Given the description of an element on the screen output the (x, y) to click on. 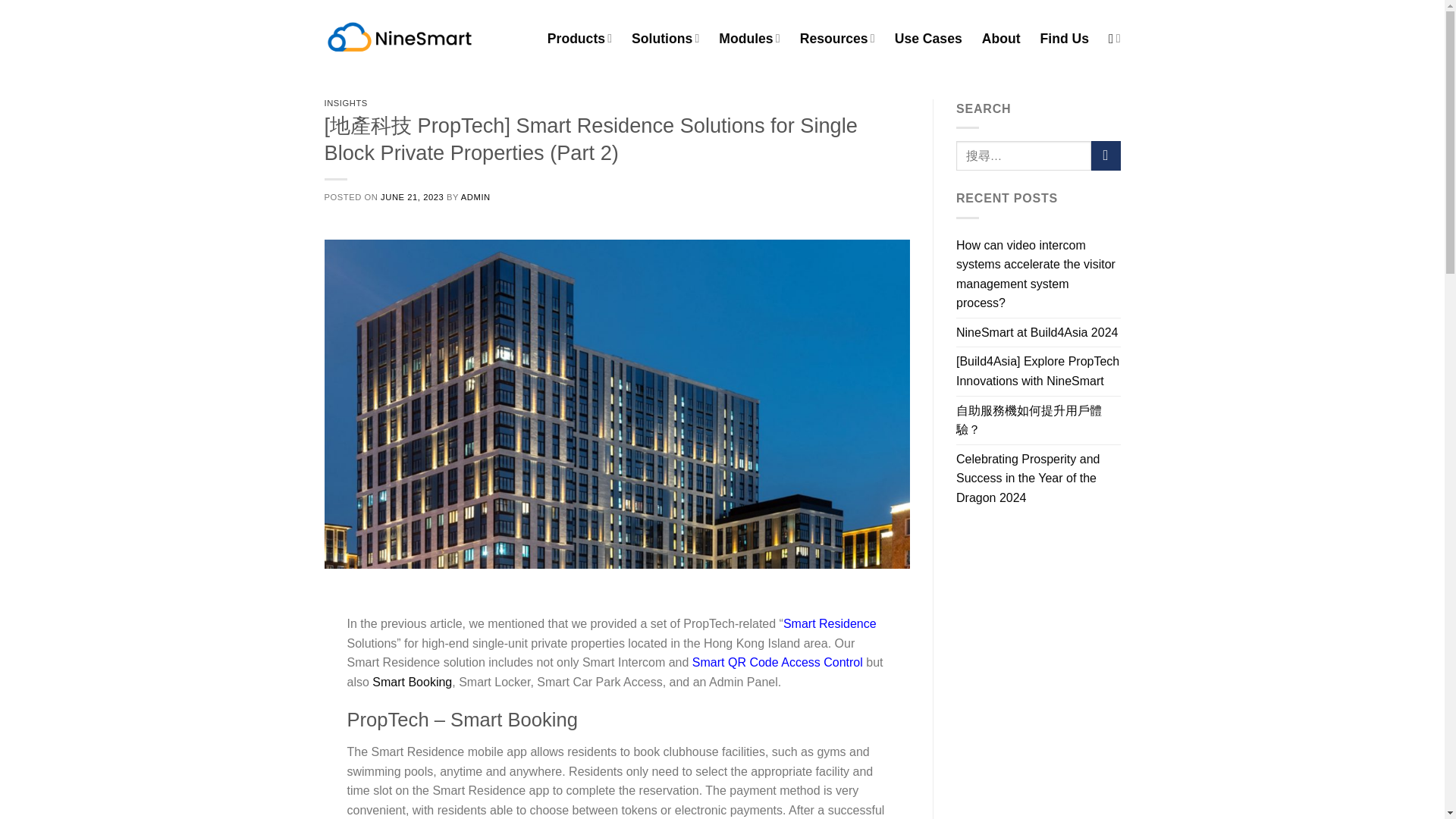
Products (579, 38)
Use Cases (928, 37)
About (1000, 37)
NineSmart (400, 38)
Modules (748, 38)
Find Us (1065, 37)
Solutions (664, 38)
Resources (837, 38)
